Given the description of an element on the screen output the (x, y) to click on. 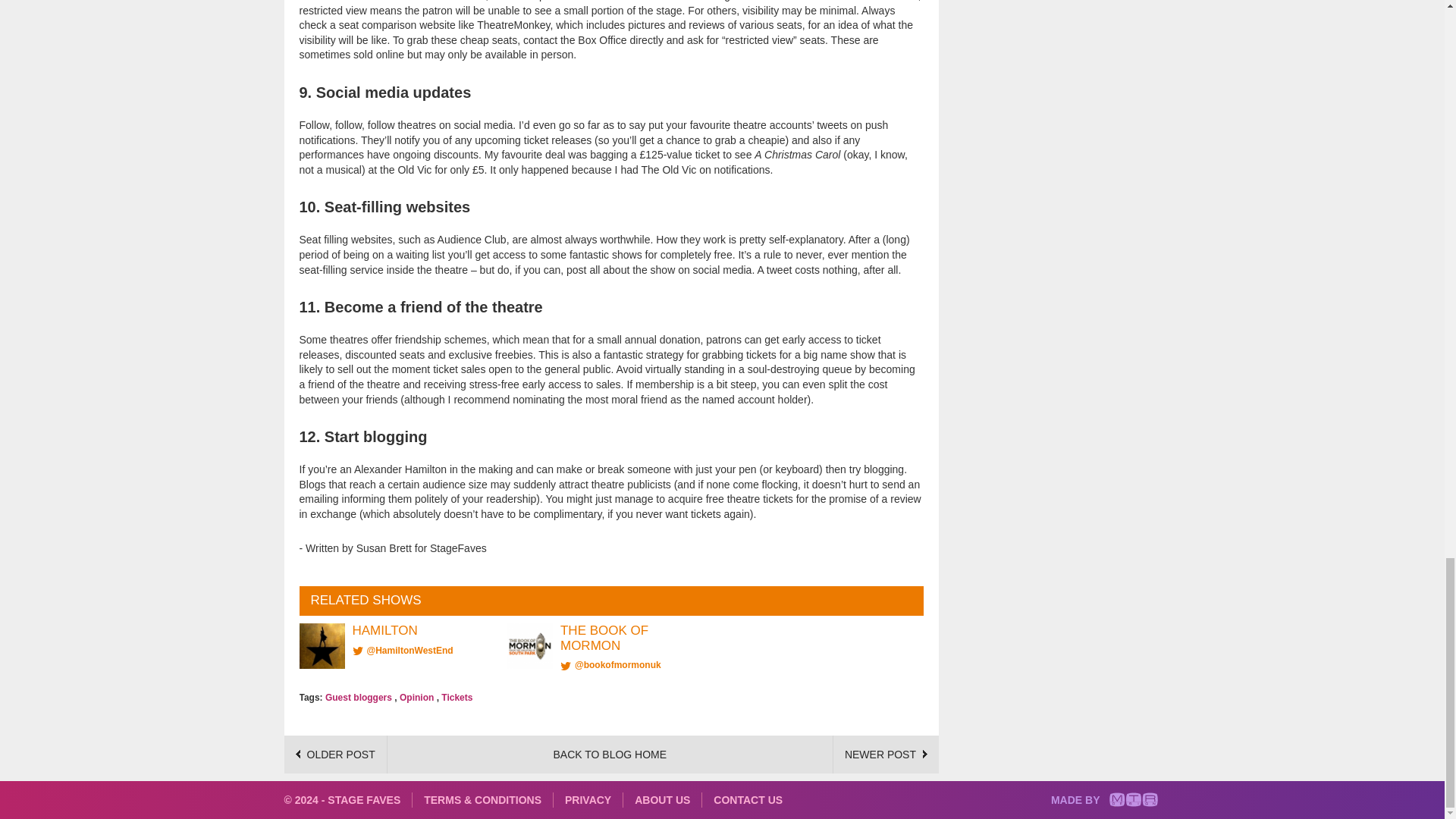
NEWER POST (885, 754)
HAMILTON (384, 630)
BACK TO BLOG HOME (609, 754)
Opinion (415, 697)
Guest bloggers (357, 697)
OLDER POST (335, 754)
THE BOOK OF MORMON (603, 637)
Tickets (456, 697)
